Given the description of an element on the screen output the (x, y) to click on. 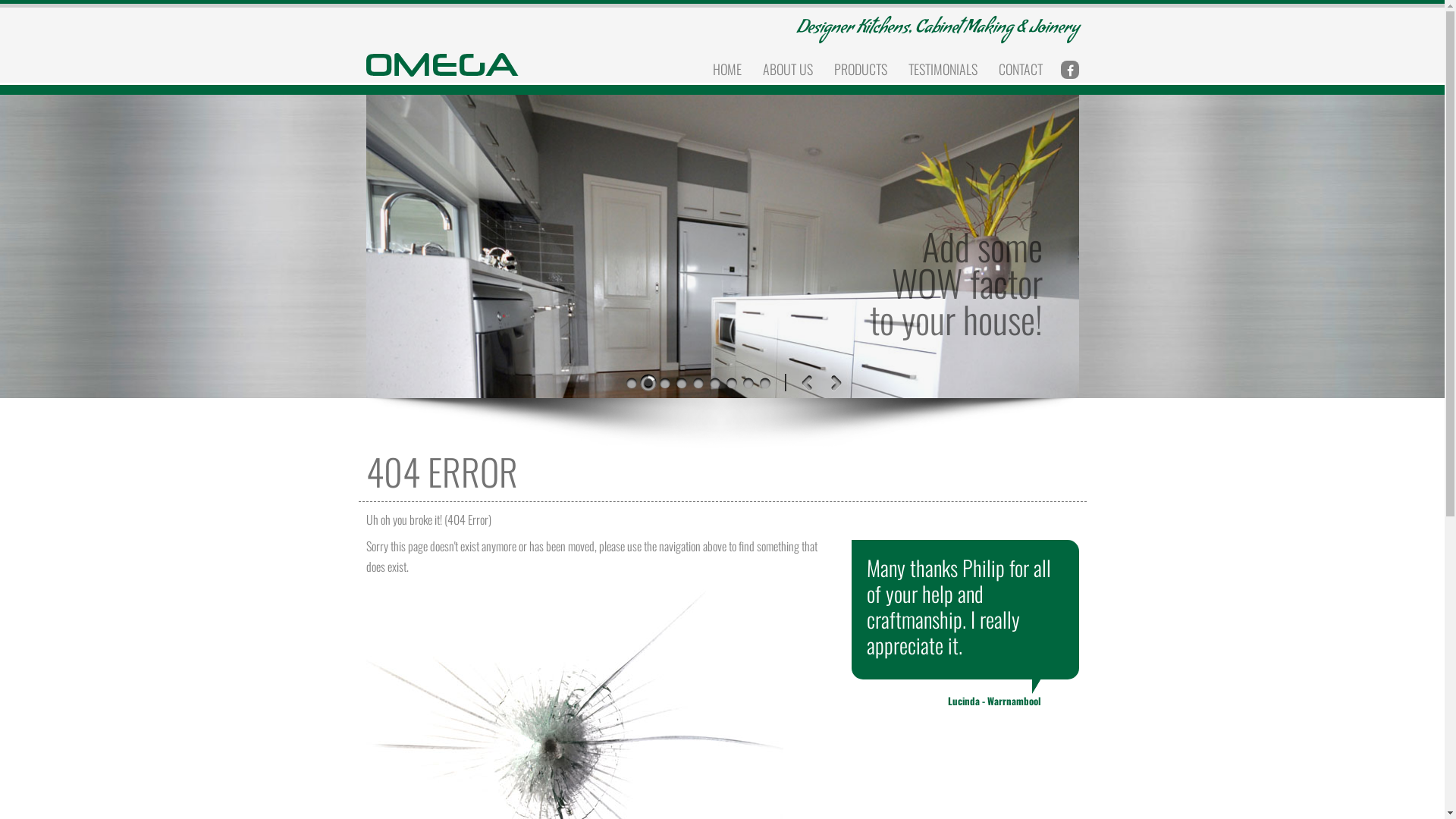
n Element type: text (834, 382)
HOME Element type: text (727, 68)
CONTACT Element type: text (1019, 68)
1 Element type: text (681, 382)
1 Element type: text (764, 382)
1 Element type: text (648, 382)
1 Element type: text (748, 382)
1 Element type: text (731, 382)
PRODUCTS Element type: text (860, 68)
1 Element type: text (698, 382)
1 Element type: text (631, 382)
1 Element type: text (714, 382)
ABOUT US Element type: text (787, 68)
p Element type: text (805, 382)
1 Element type: text (664, 382)
TESTIMONIALS Element type: text (942, 68)
